Given the description of an element on the screen output the (x, y) to click on. 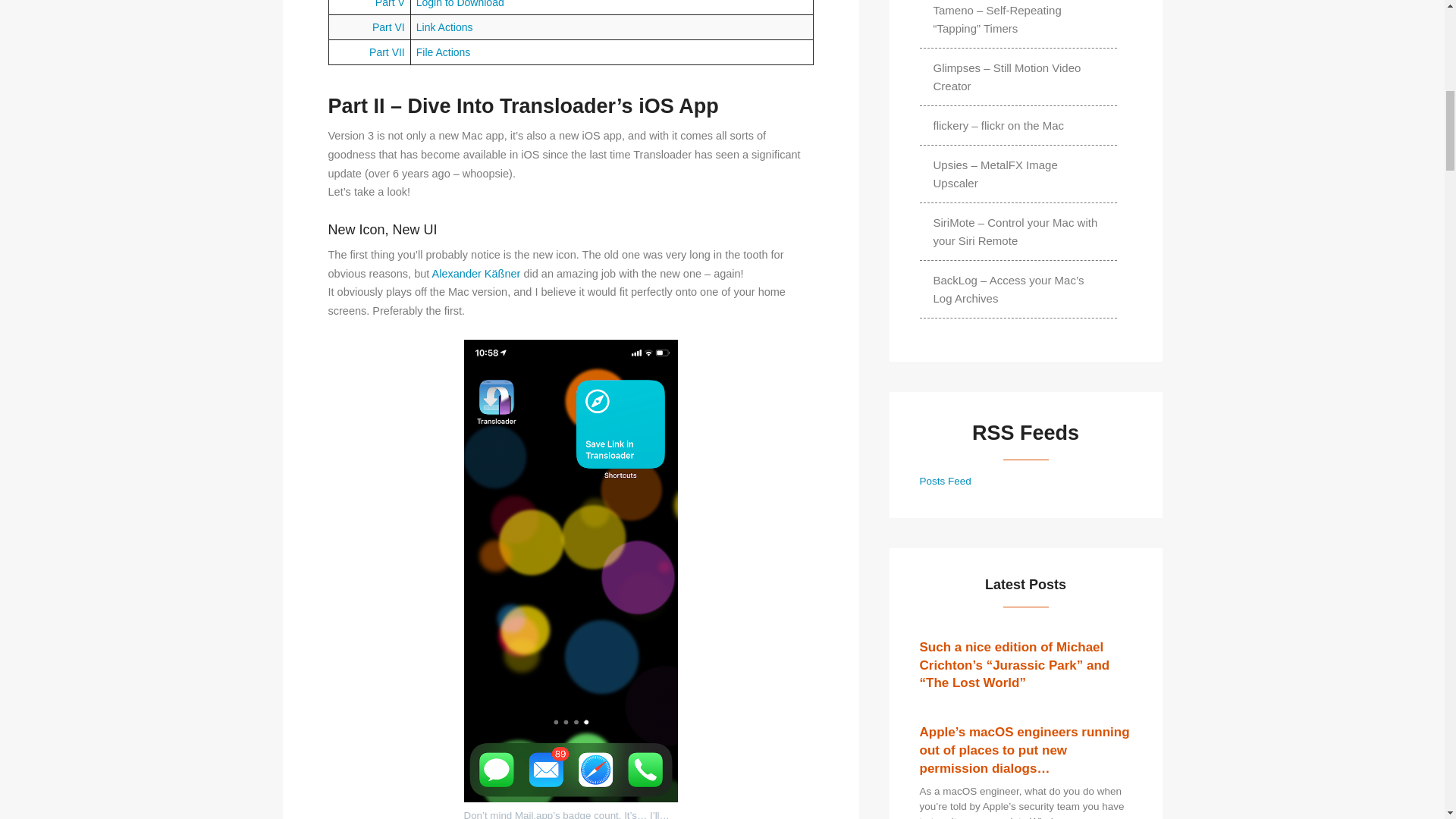
File Actions (443, 51)
Part V (389, 4)
Part VI (388, 27)
Part VII (386, 51)
Link Actions (444, 27)
Login to Download (459, 4)
